Given the description of an element on the screen output the (x, y) to click on. 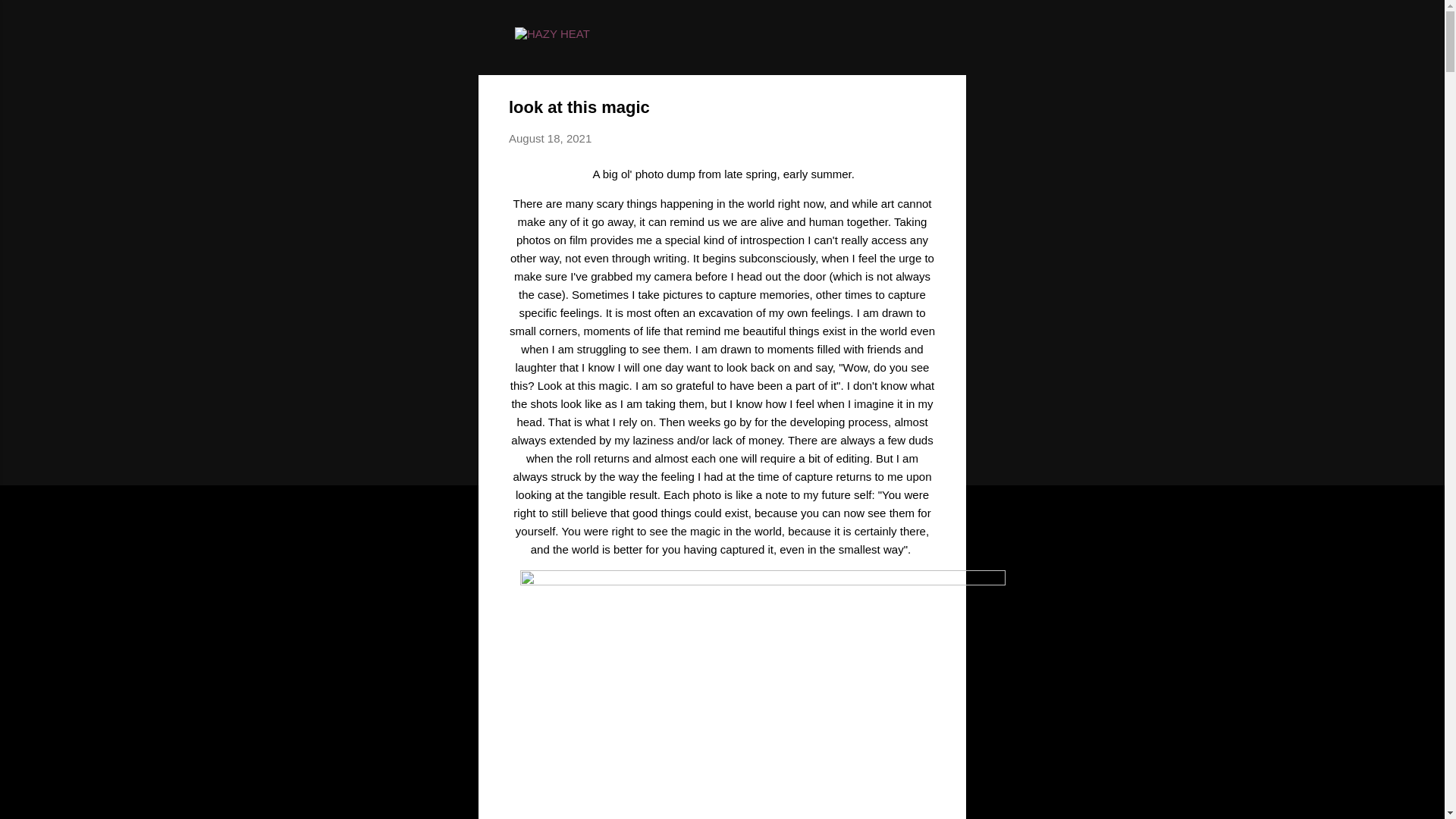
permanent link (549, 137)
Search (29, 18)
August 18, 2021 (549, 137)
